Given the description of an element on the screen output the (x, y) to click on. 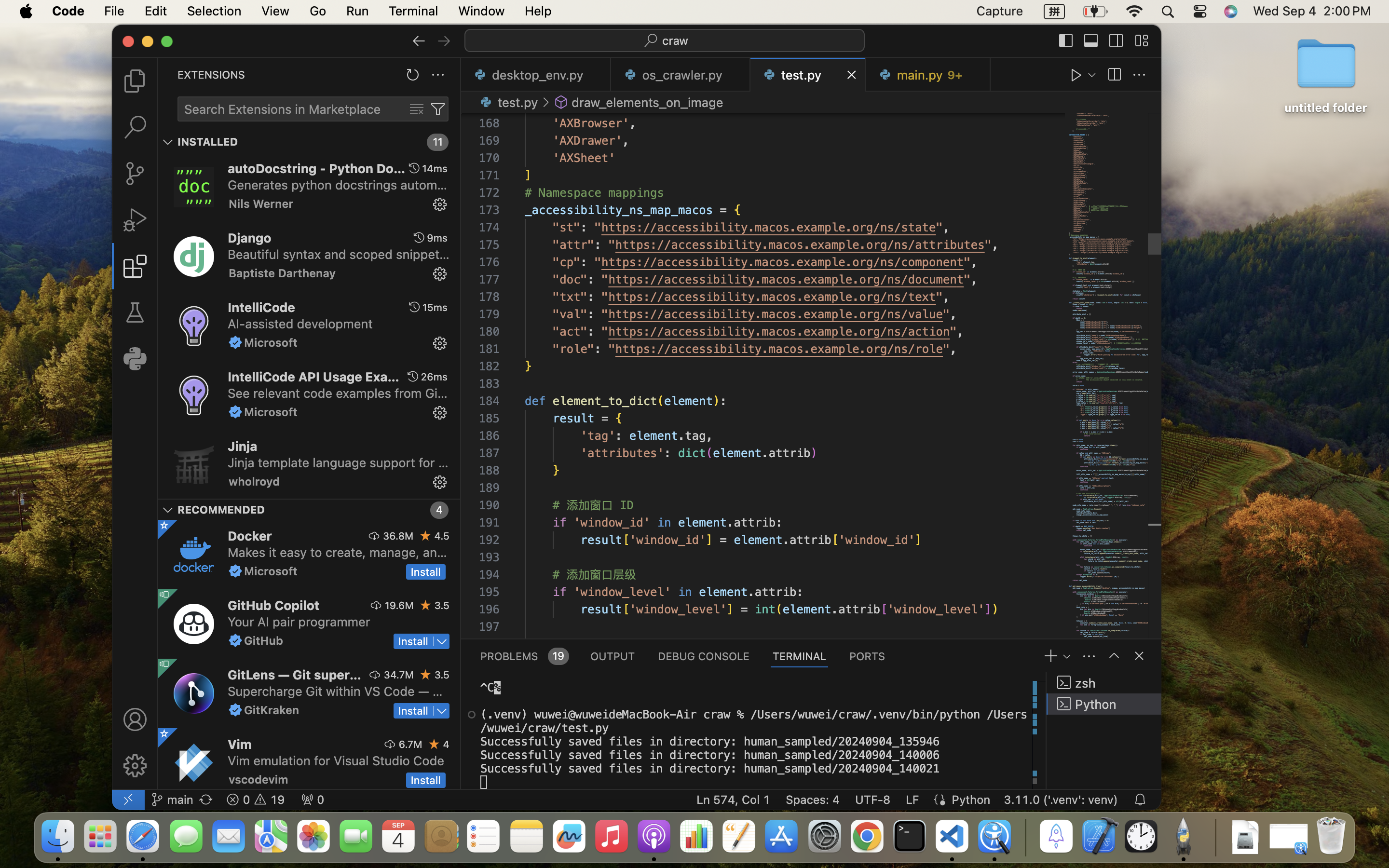
0 OUTPUT Element type: AXRadioButton (612, 655)
 Element type: AXStaticText (164, 663)
 Element type: AXStaticText (235, 342)
Your AI pair programmer Element type: AXStaticText (298, 621)
See relevant code examples from GitHub for over 100K different APIs right in your editor. Element type: AXStaticText (337, 392)
